Given the description of an element on the screen output the (x, y) to click on. 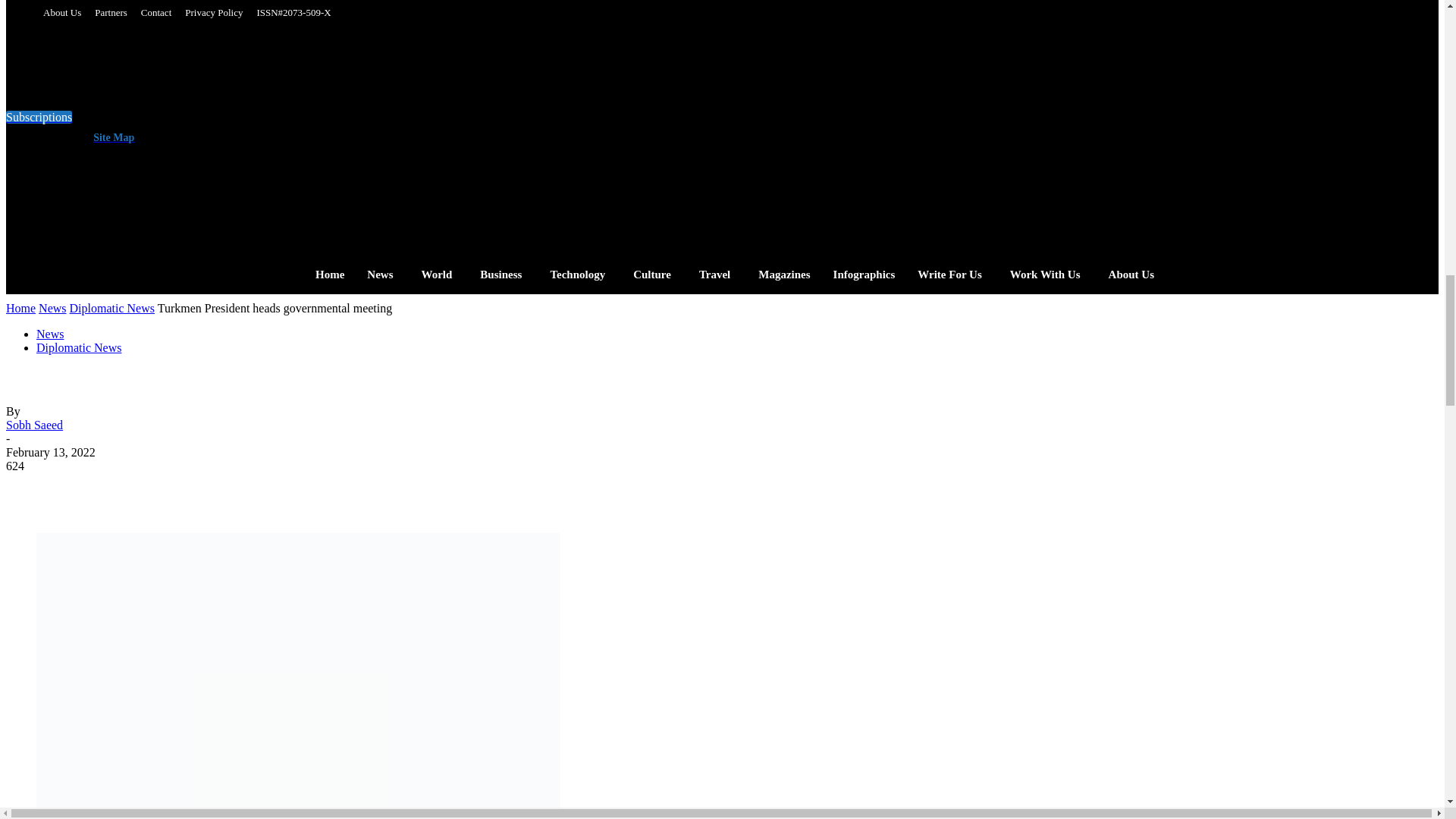
View all posts in News (52, 308)
Instagram (352, 131)
Facebook (321, 131)
Linkedin (382, 131)
Twitter (412, 131)
Youtube (443, 131)
Site Map (110, 137)
Subscriptions (38, 116)
View all posts in Diplomatic News (111, 308)
